Given the description of an element on the screen output the (x, y) to click on. 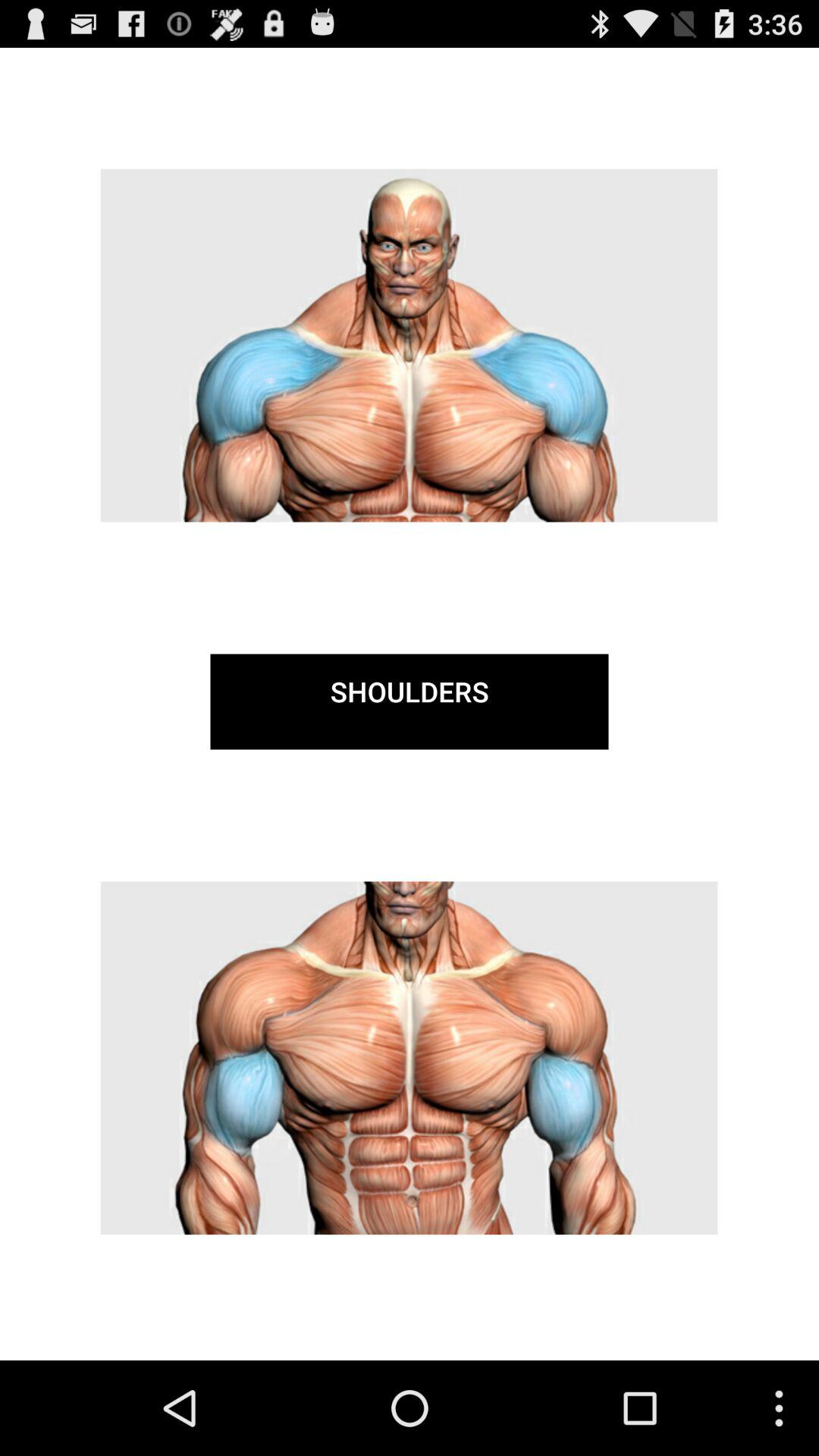
choose the shoulders at the center (409, 701)
